Given the description of an element on the screen output the (x, y) to click on. 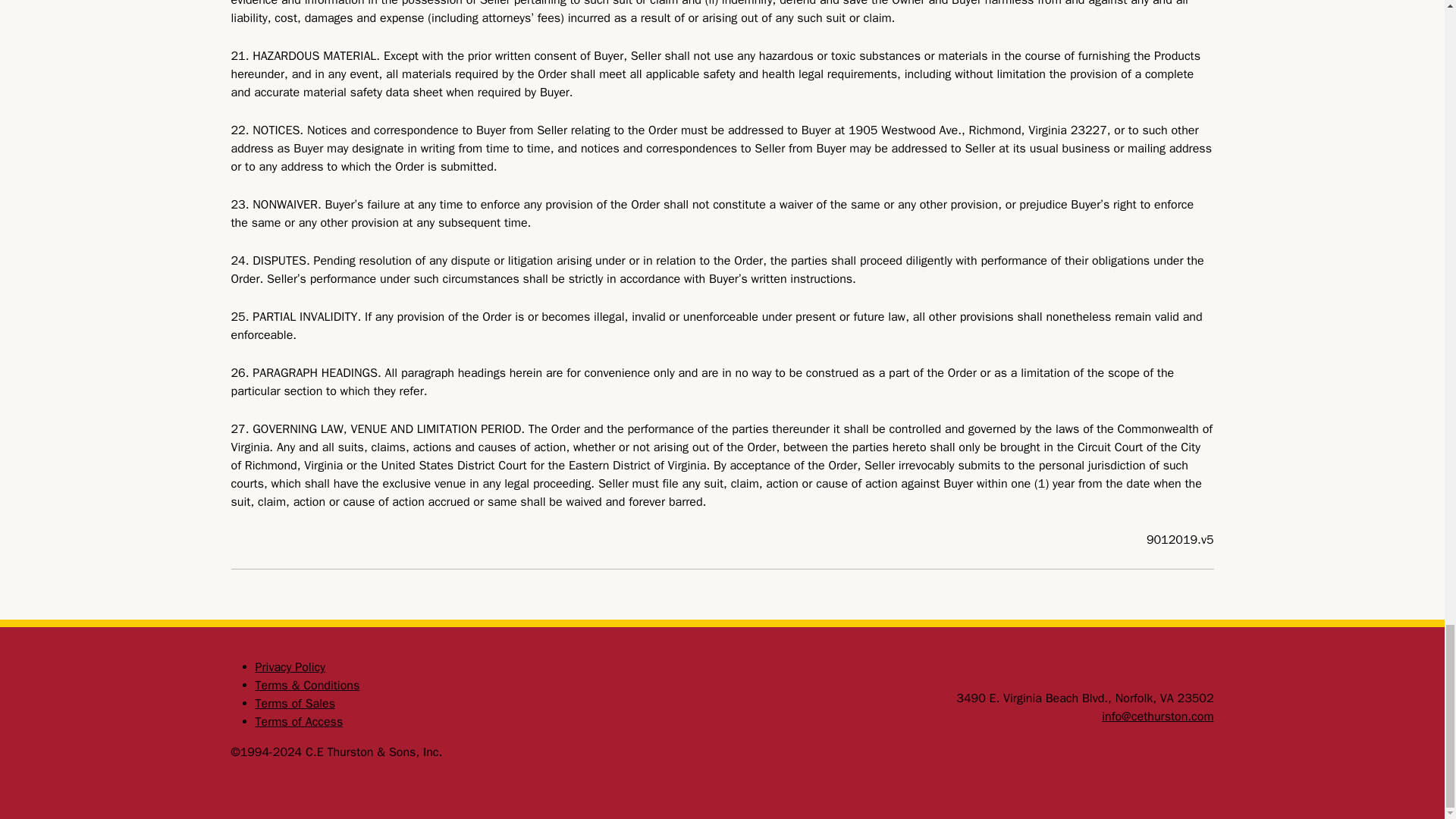
Terms of Access (298, 721)
Terms of Sales (294, 703)
Privacy Policy (289, 667)
